Given the description of an element on the screen output the (x, y) to click on. 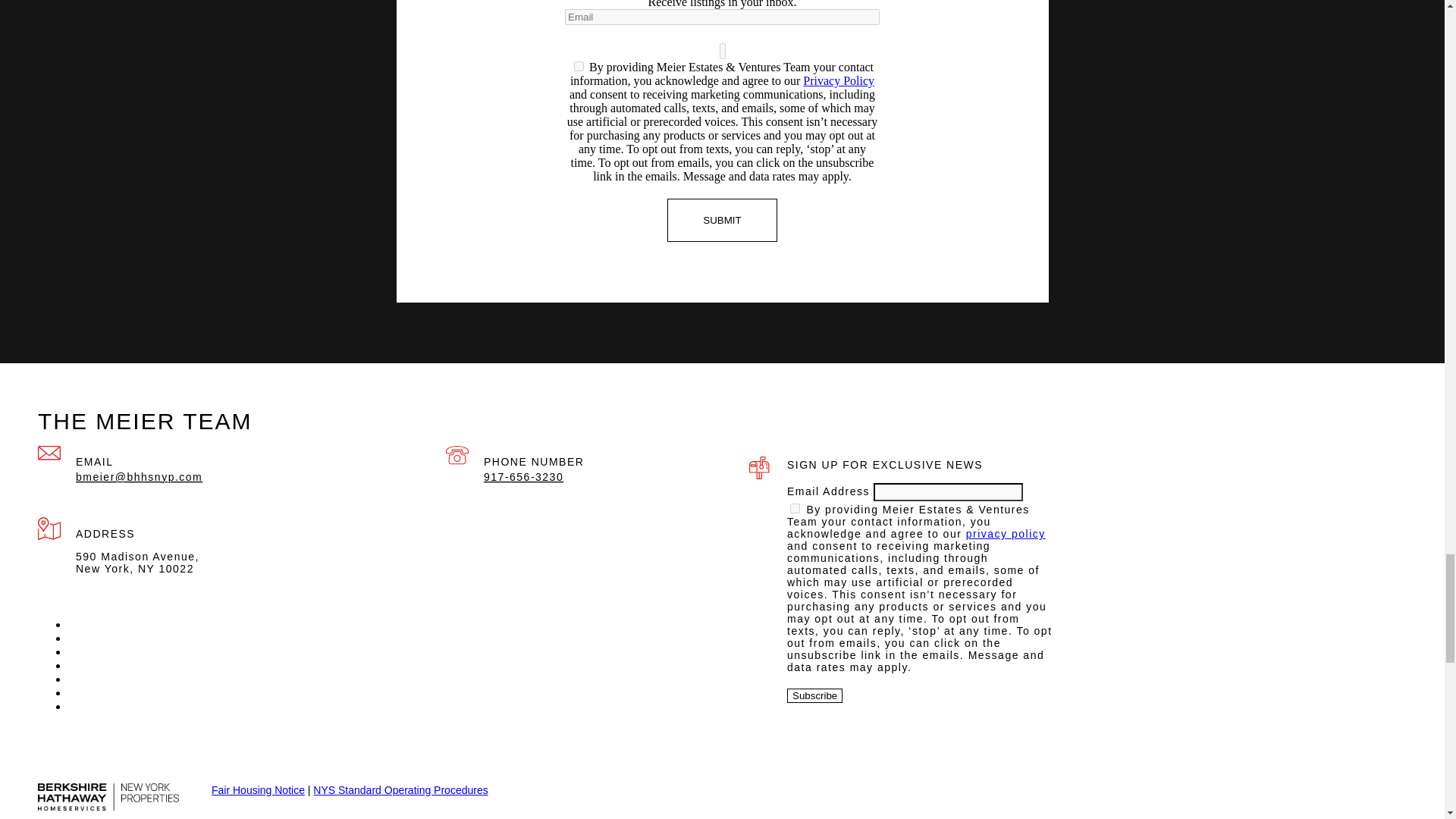
on (794, 508)
on (578, 66)
